Given the description of an element on the screen output the (x, y) to click on. 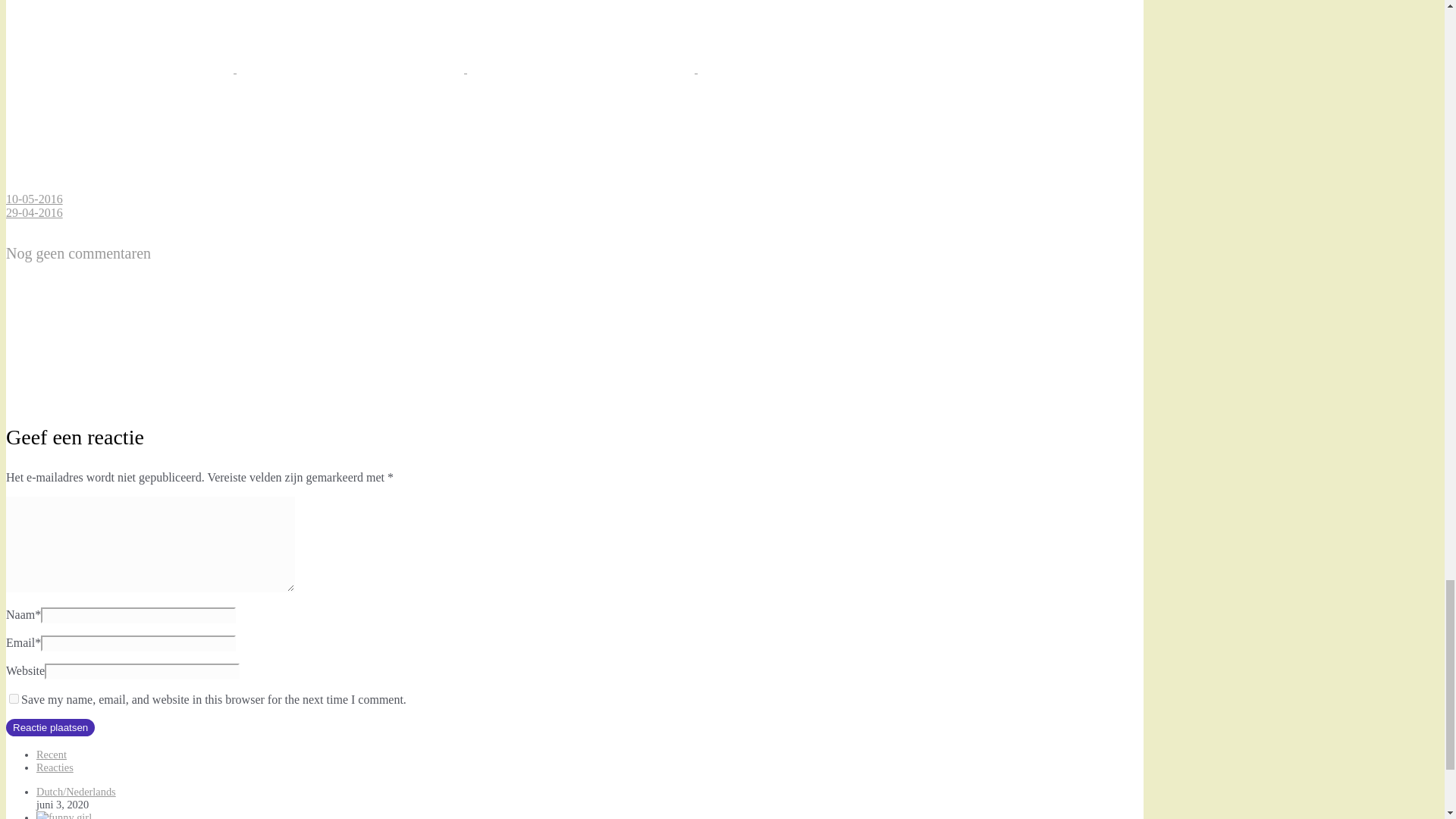
Reacties volgen (118, 396)
Reactie plaatsen (49, 727)
yes (13, 698)
Meer opties (118, 185)
Deel op Facebook (351, 68)
Deel op Twitter (120, 68)
Delen via E-mail (810, 68)
Delen op Pinterest (582, 68)
